Given the description of an element on the screen output the (x, y) to click on. 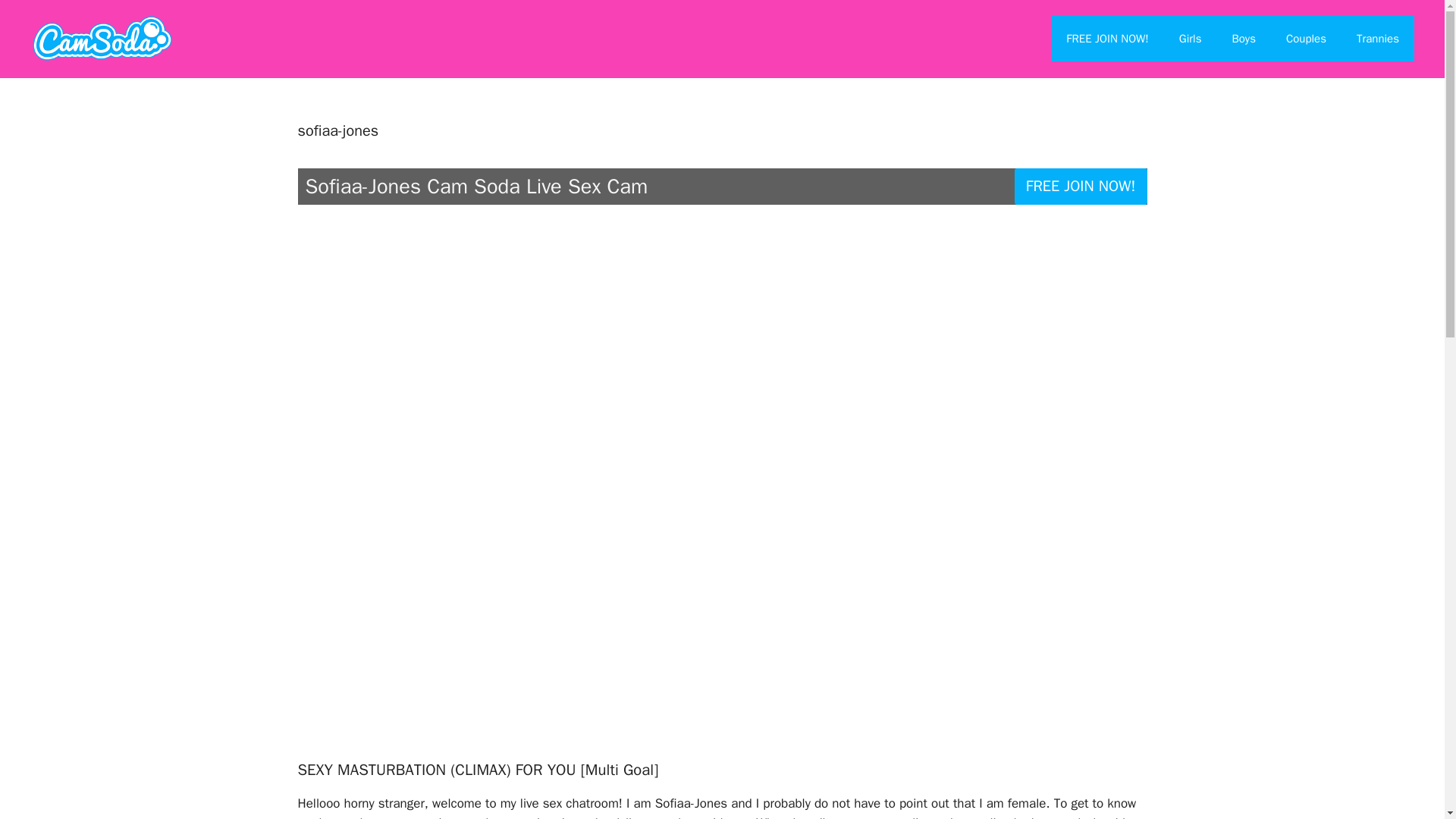
Couples (1305, 38)
FREE JOIN NOW! (1107, 38)
Girls (1190, 38)
FREE JOIN NOW! (1080, 186)
Boys (1242, 38)
Trannies (1376, 38)
